Given the description of an element on the screen output the (x, y) to click on. 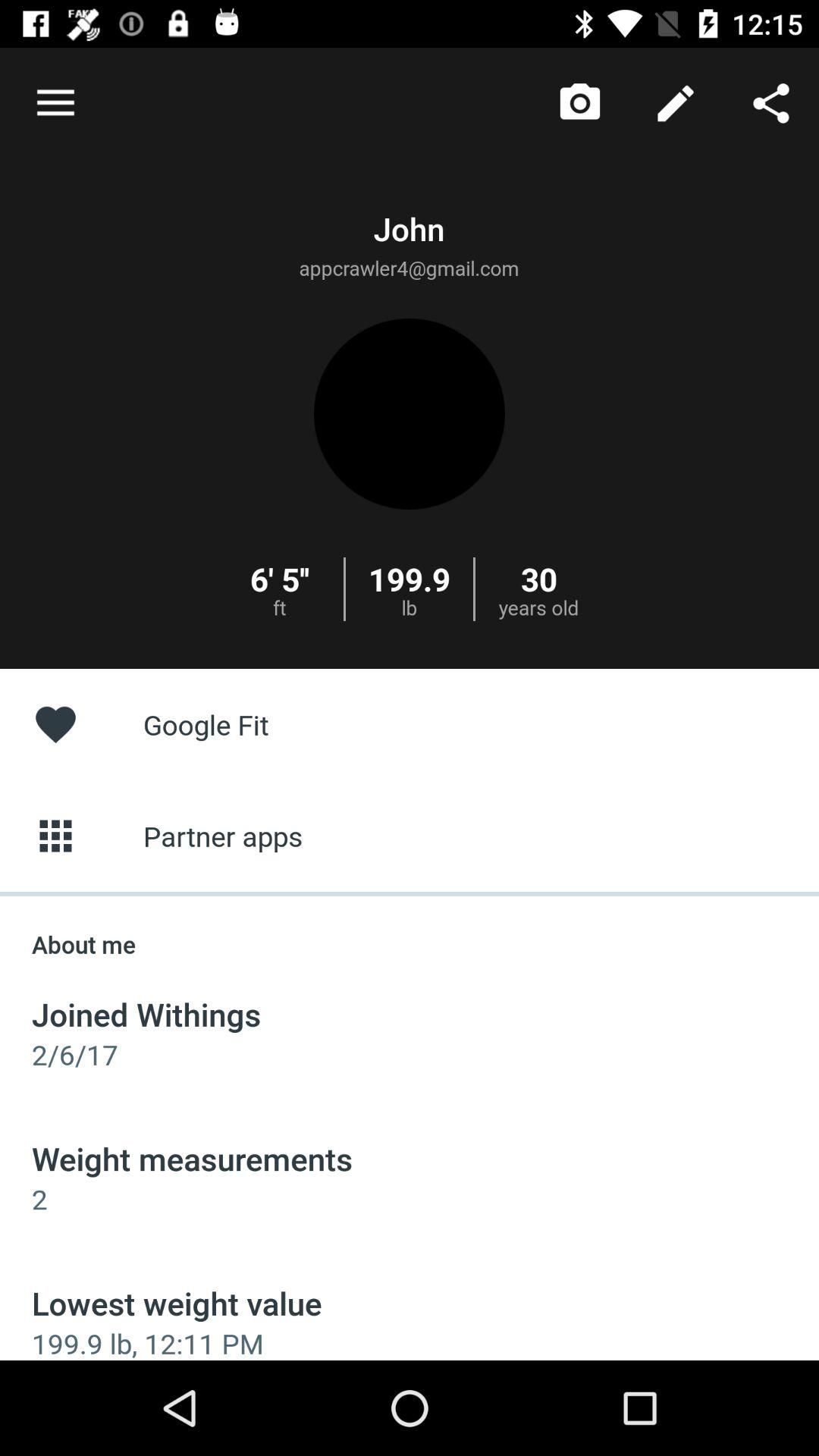
click item above google fit icon (771, 103)
